Given the description of an element on the screen output the (x, y) to click on. 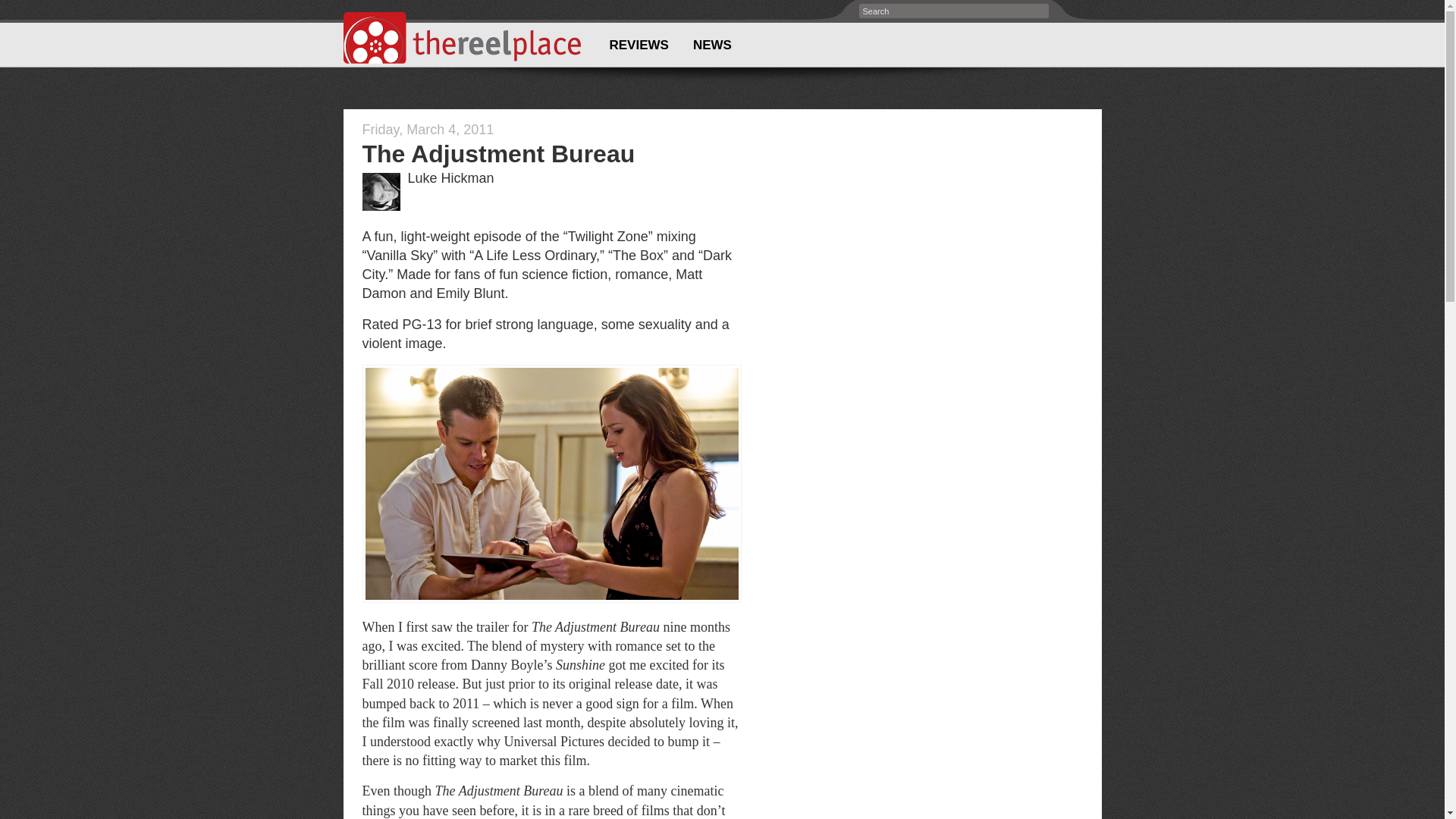
REVIEWS (638, 44)
The Reel Place (461, 37)
NEWS (711, 44)
The Adjustment Bureau (498, 153)
Search (16, 7)
Luke Hickman (451, 177)
